Given the description of an element on the screen output the (x, y) to click on. 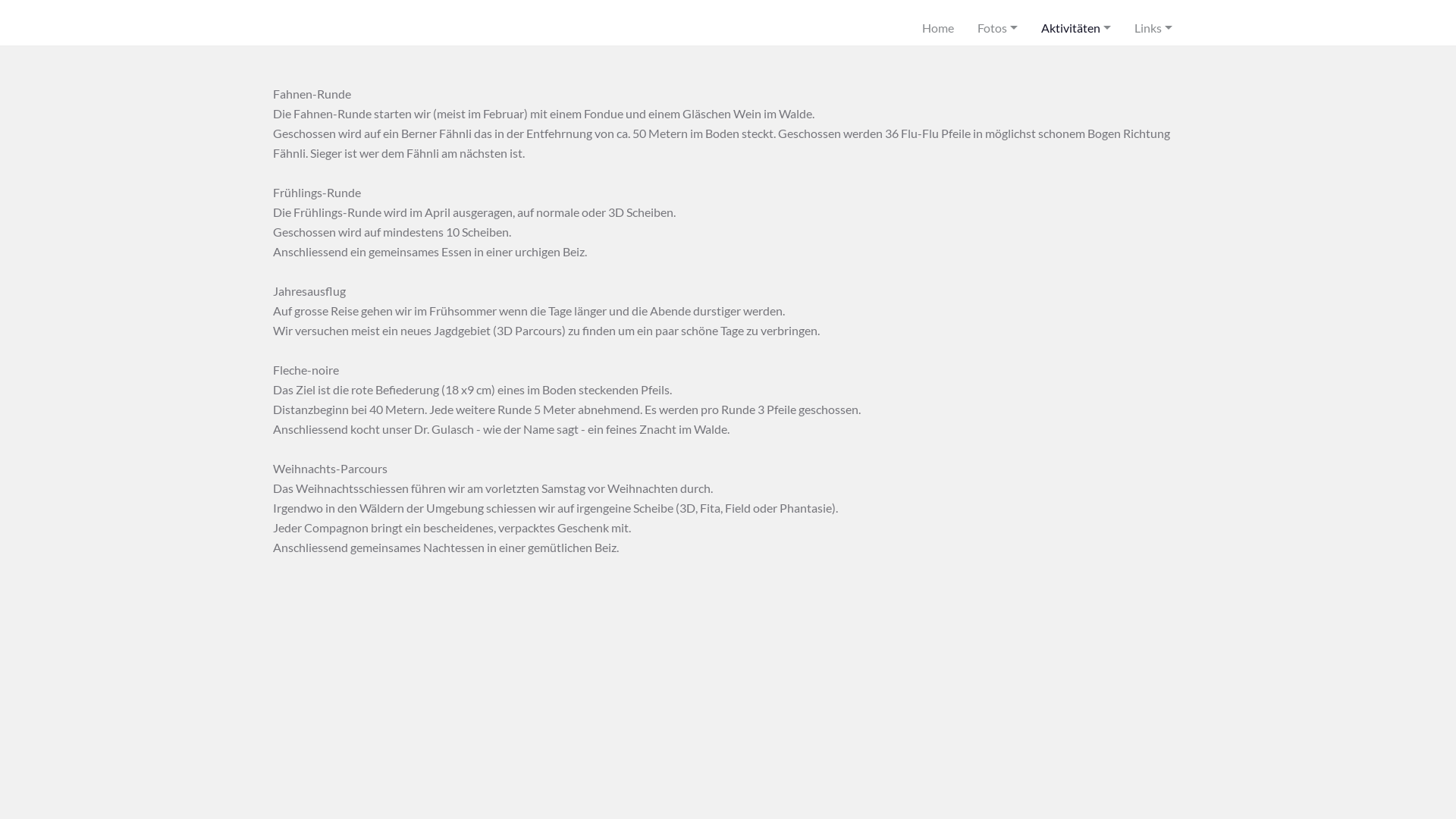
Home Element type: text (943, 22)
